Given the description of an element on the screen output the (x, y) to click on. 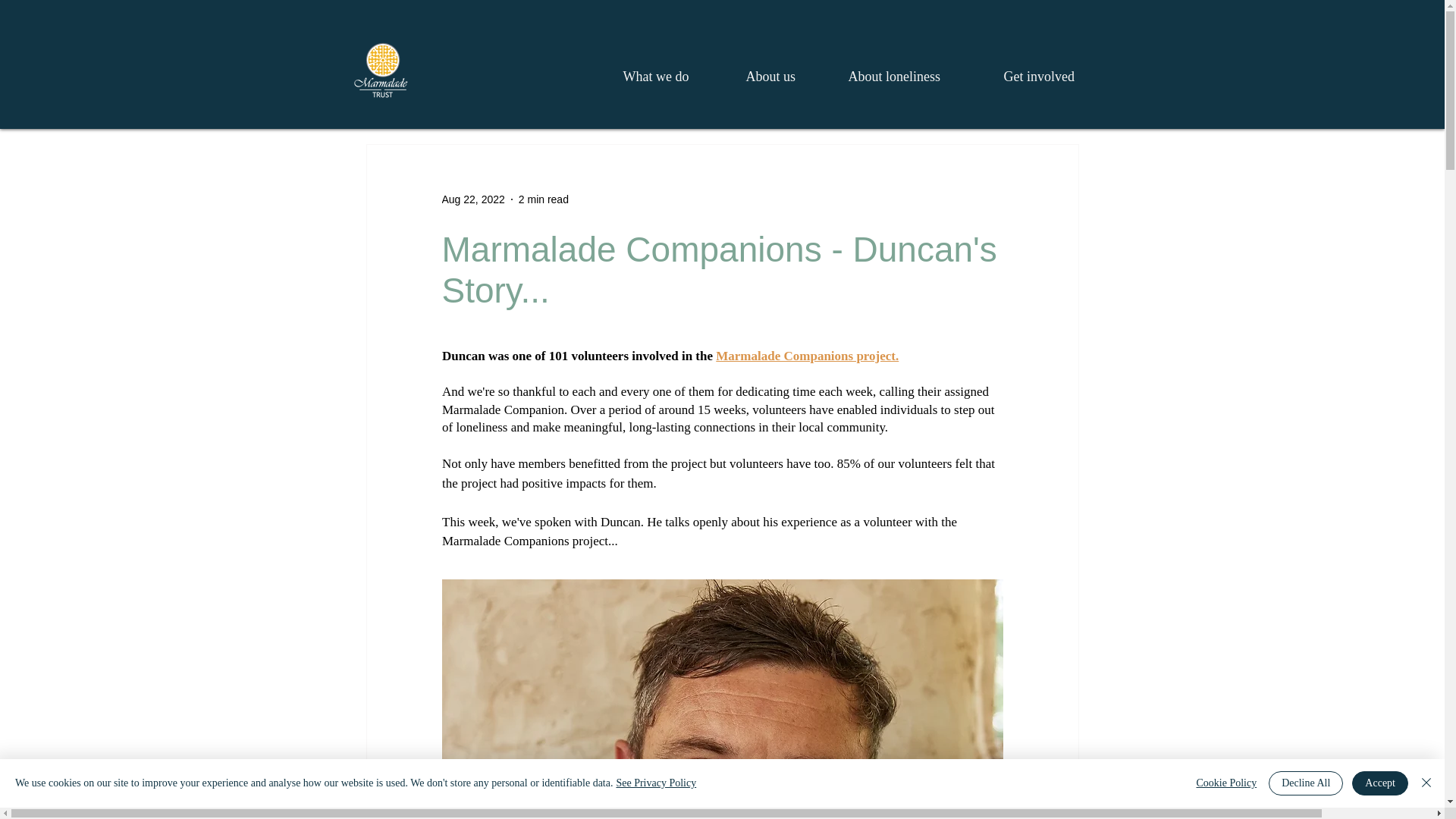
Aug 22, 2022 (472, 198)
2 min read (543, 198)
Marmalade Companions project. (807, 355)
